Given the description of an element on the screen output the (x, y) to click on. 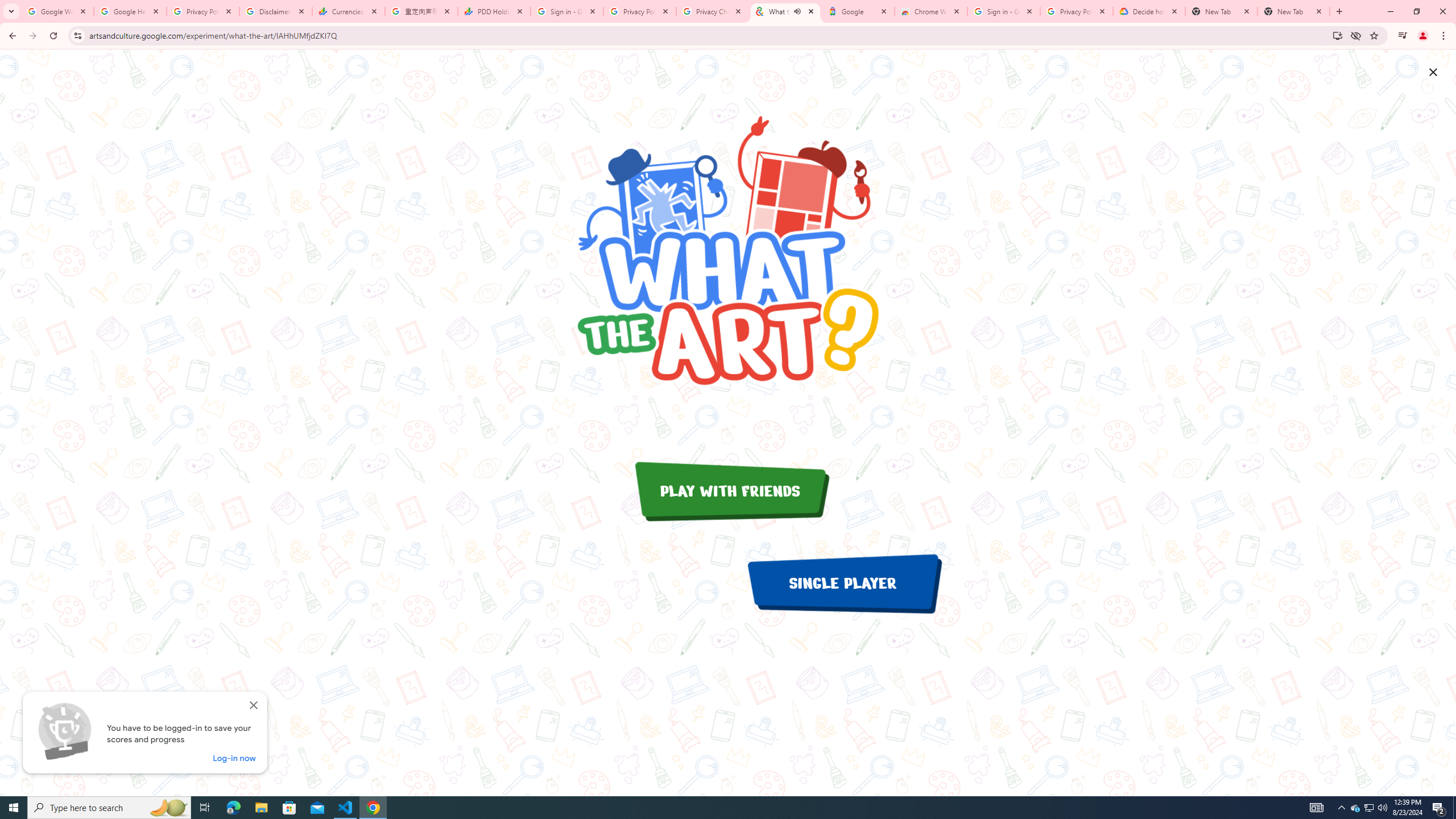
Google Workspace Admin Community (57, 11)
Privacy Checkup (712, 11)
Log-in now (234, 757)
